Given the description of an element on the screen output the (x, y) to click on. 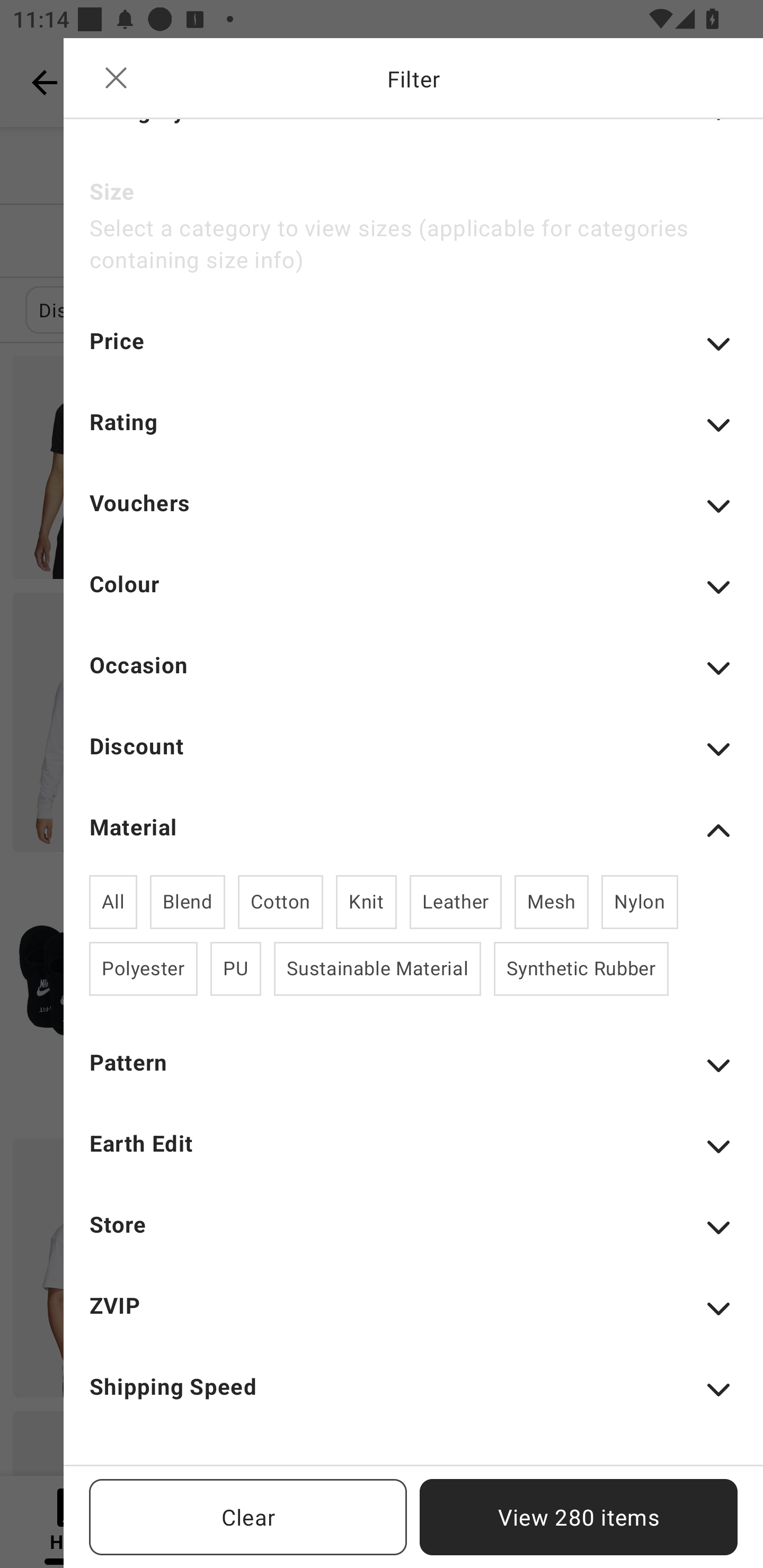
Price (413, 352)
Rating (413, 434)
Vouchers (413, 514)
Colour (413, 595)
Occasion (413, 677)
Discount (413, 757)
Material (413, 830)
All (113, 901)
Blend (187, 901)
Cotton (280, 901)
Knit (365, 901)
Leather (455, 901)
Mesh (551, 901)
Nylon (639, 901)
Polyester (143, 968)
PU (235, 968)
Sustainable Material (377, 968)
Synthetic Rubber (580, 968)
Pattern (413, 1074)
Earth Edit (413, 1155)
Store (413, 1235)
ZVIP (413, 1317)
Shipping Speed (413, 1398)
Clear (247, 1516)
View 280 items (578, 1516)
